Given the description of an element on the screen output the (x, y) to click on. 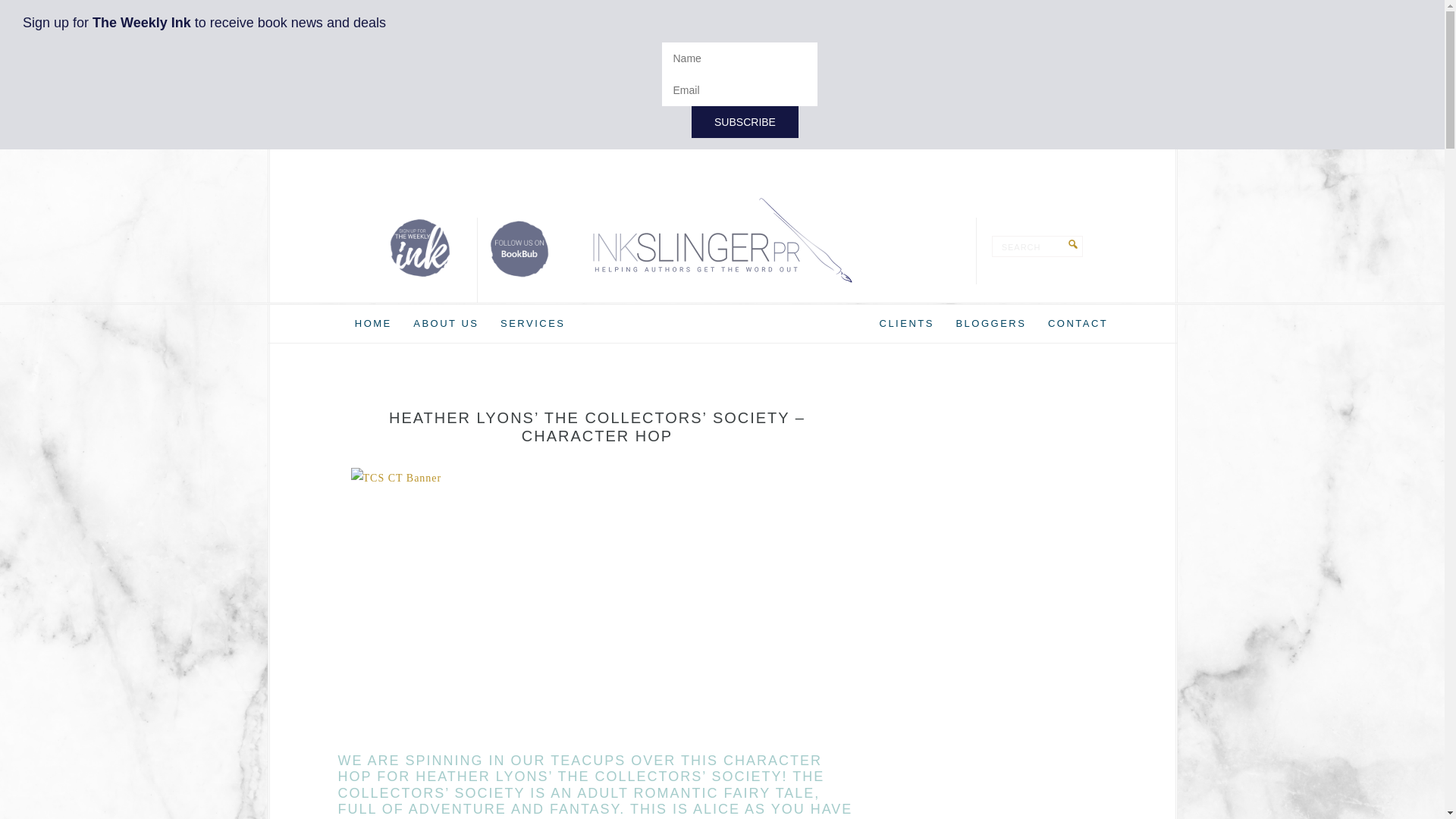
SERVICES (533, 323)
CONTACT (1077, 323)
BLOGGERS (990, 323)
CLIENTS (906, 323)
HOME (373, 323)
INKSLINGER PR (722, 240)
ABOUT US (445, 323)
